Given the description of an element on the screen output the (x, y) to click on. 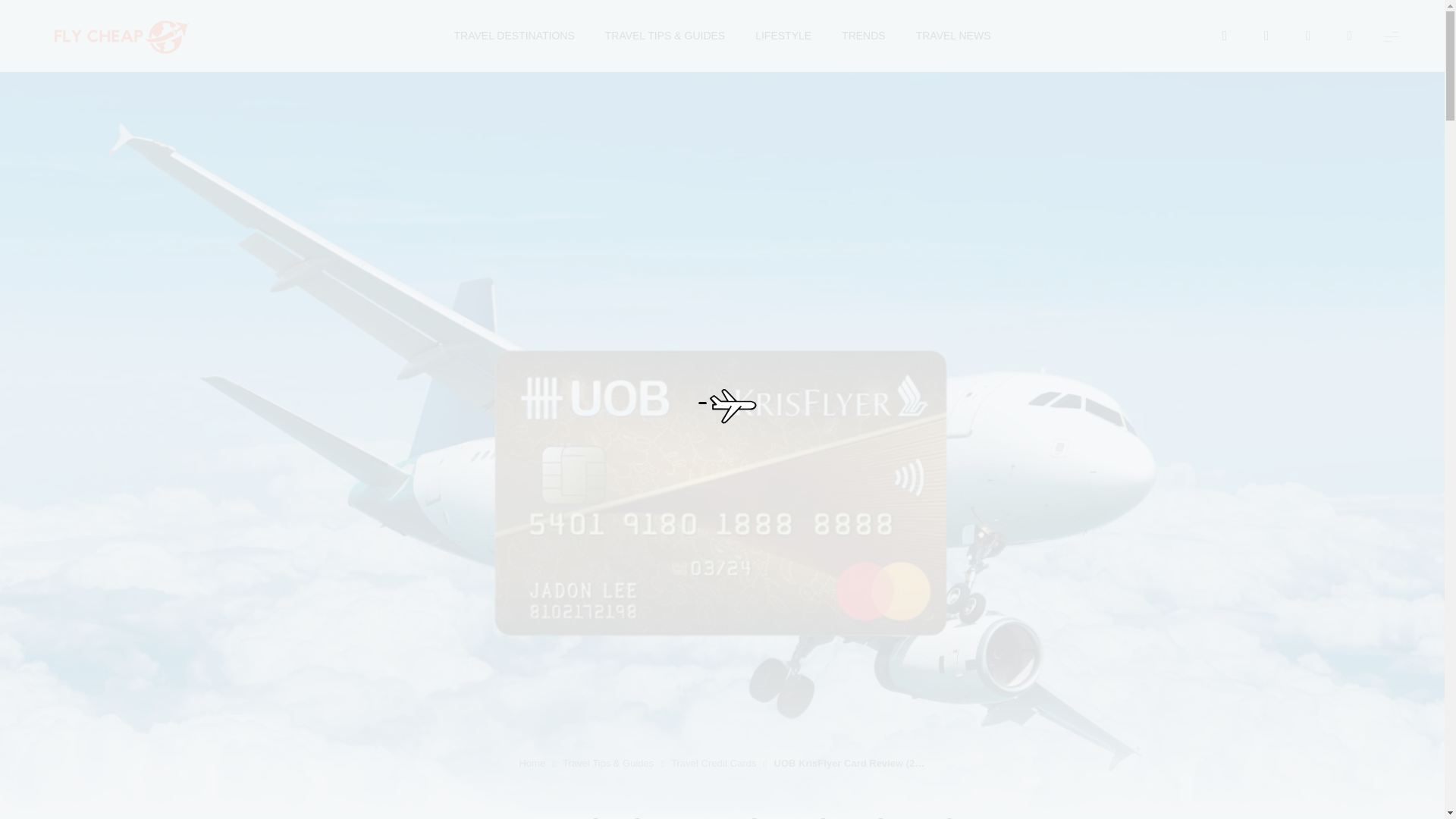
TRENDS (863, 36)
TRAVEL DESTINATIONS (514, 36)
TRAVEL NEWS (953, 36)
LIFESTYLE (782, 36)
